Given the description of an element on the screen output the (x, y) to click on. 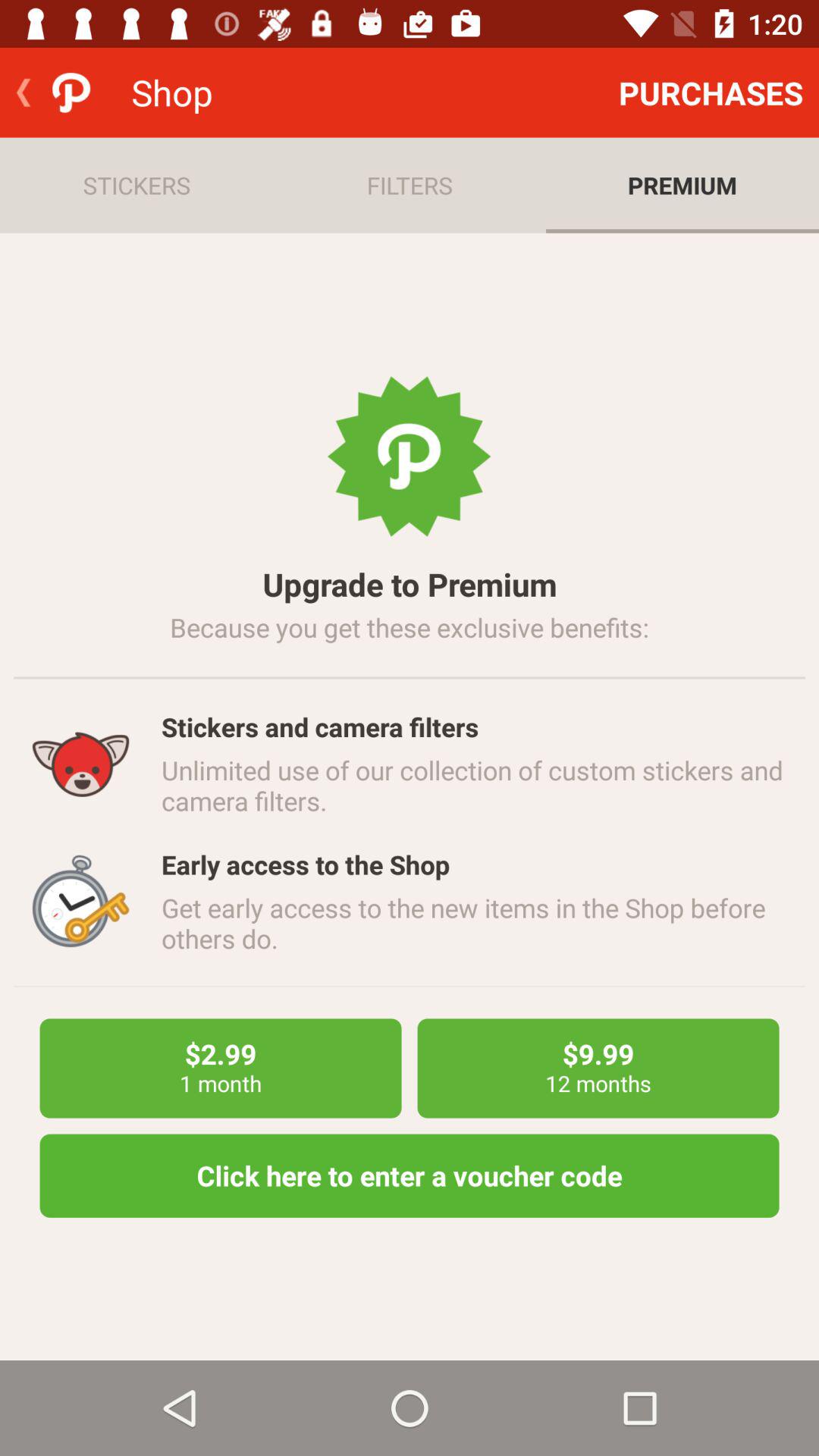
tap app to the right of shop icon (710, 92)
